Given the description of an element on the screen output the (x, y) to click on. 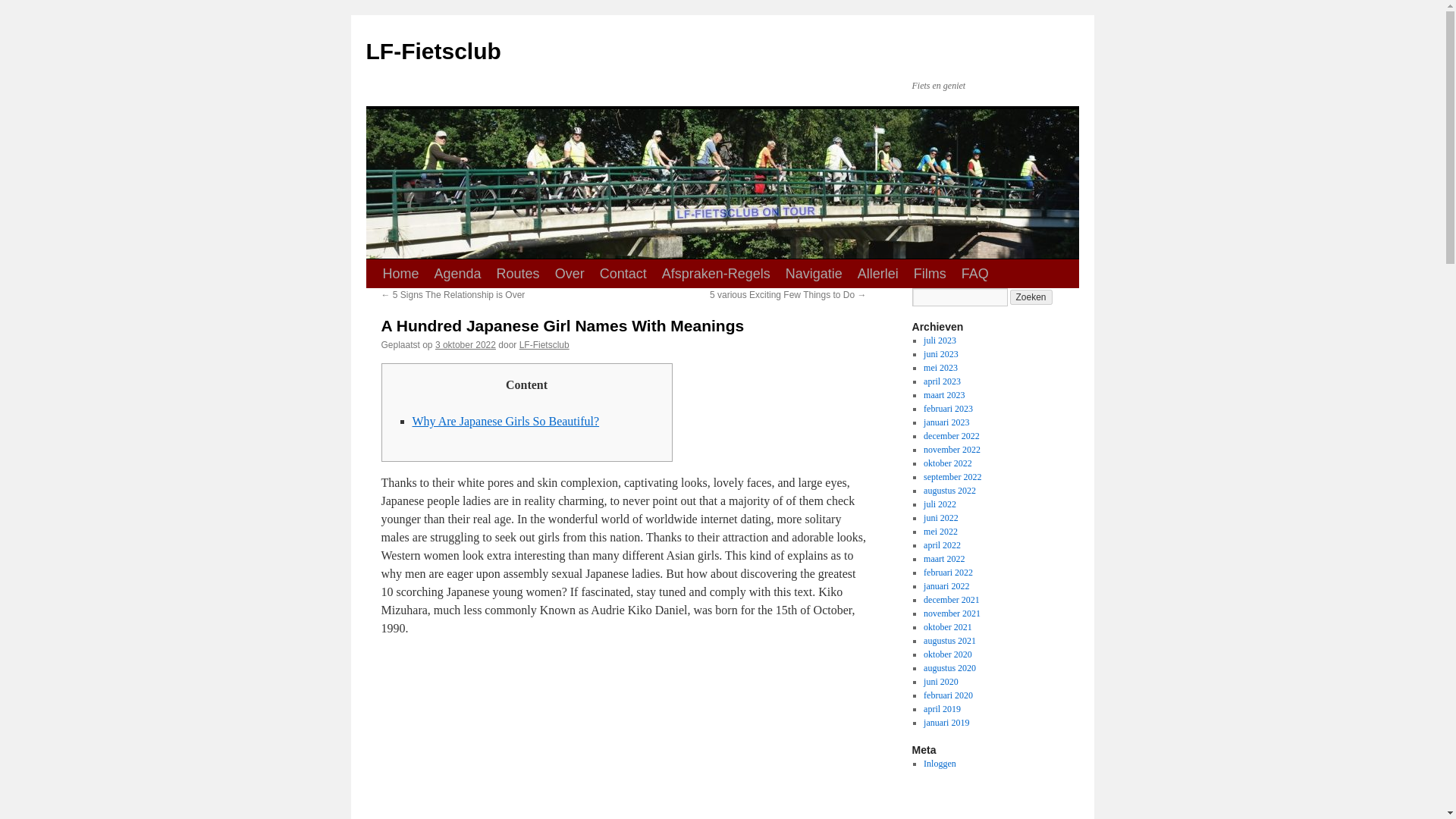
Navigatie (813, 273)
Routes (518, 273)
LF-Fietsclub (432, 50)
december 2022 (951, 435)
Alle berichten tonen van LF-Fietsclub (544, 344)
3 oktober 2022 (465, 344)
november 2022 (951, 449)
Home (400, 273)
oktober 2022 (947, 462)
Over (569, 273)
LF-Fietsclub (544, 344)
juli 2023 (939, 339)
juli 2022 (939, 503)
juni 2023 (940, 353)
00:00 (465, 344)
